Given the description of an element on the screen output the (x, y) to click on. 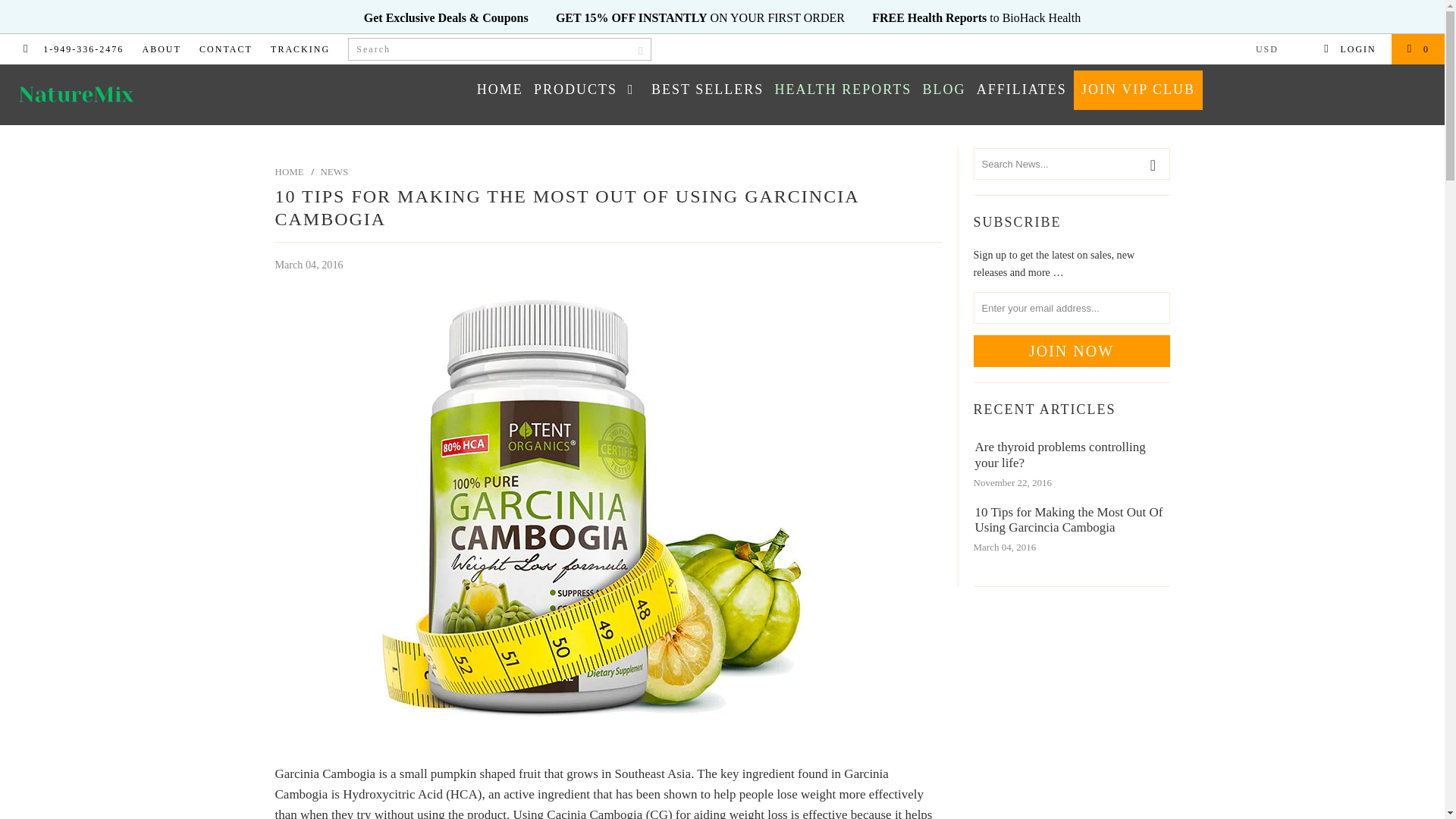
Join Now (1072, 350)
NatureMix (122, 94)
10 Tips for Making the Most Out Of Using Garcincia Cambogia (1065, 520)
Email NatureMix (25, 49)
1-949-336-2476 (83, 49)
TRACKING (300, 49)
Are thyroid problems controlling your life? (1065, 454)
ABOUT (161, 49)
My Account  (1349, 49)
News (333, 171)
